Given the description of an element on the screen output the (x, y) to click on. 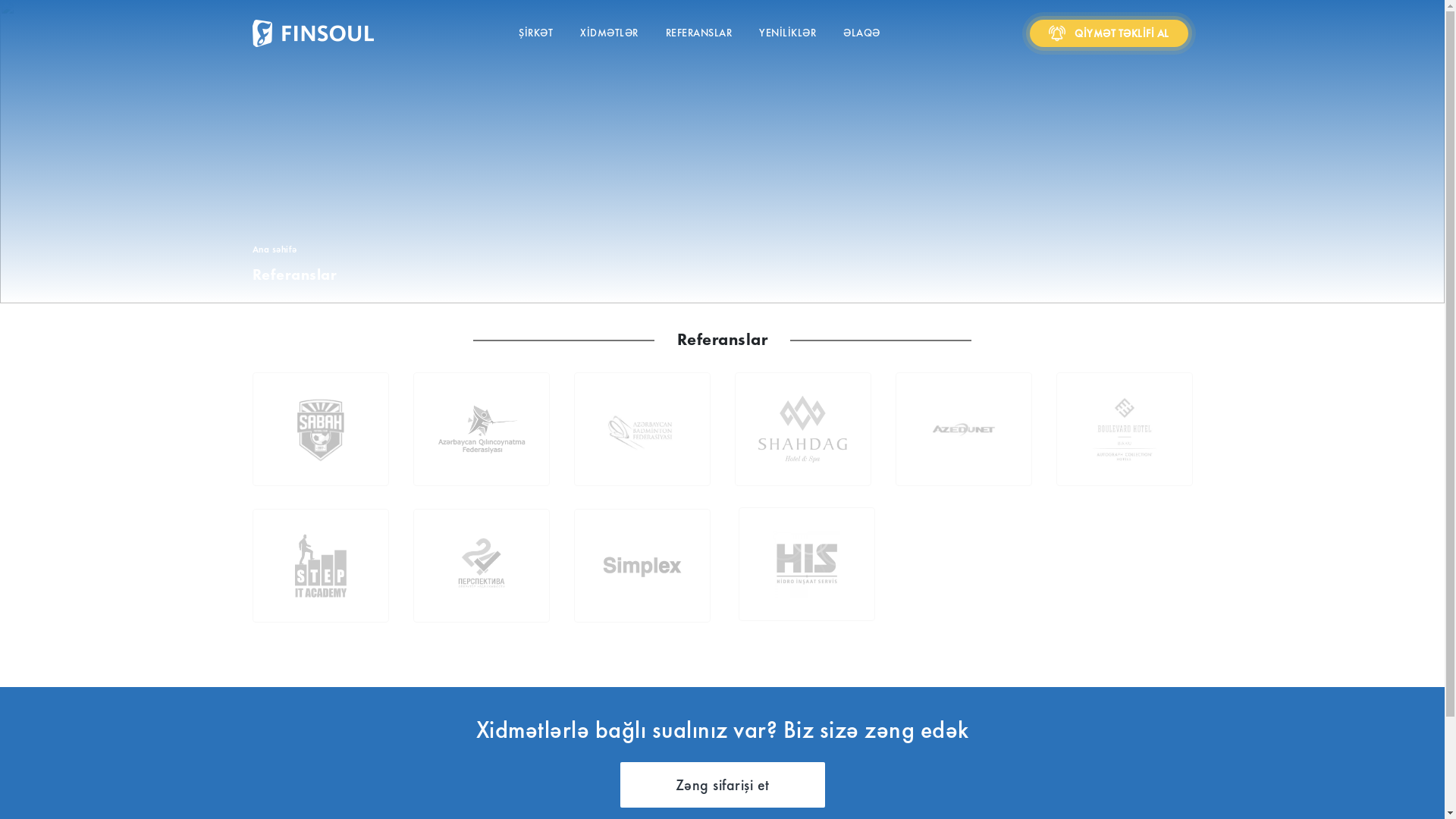
REFERANSLAR Element type: text (698, 33)
